Given the description of an element on the screen output the (x, y) to click on. 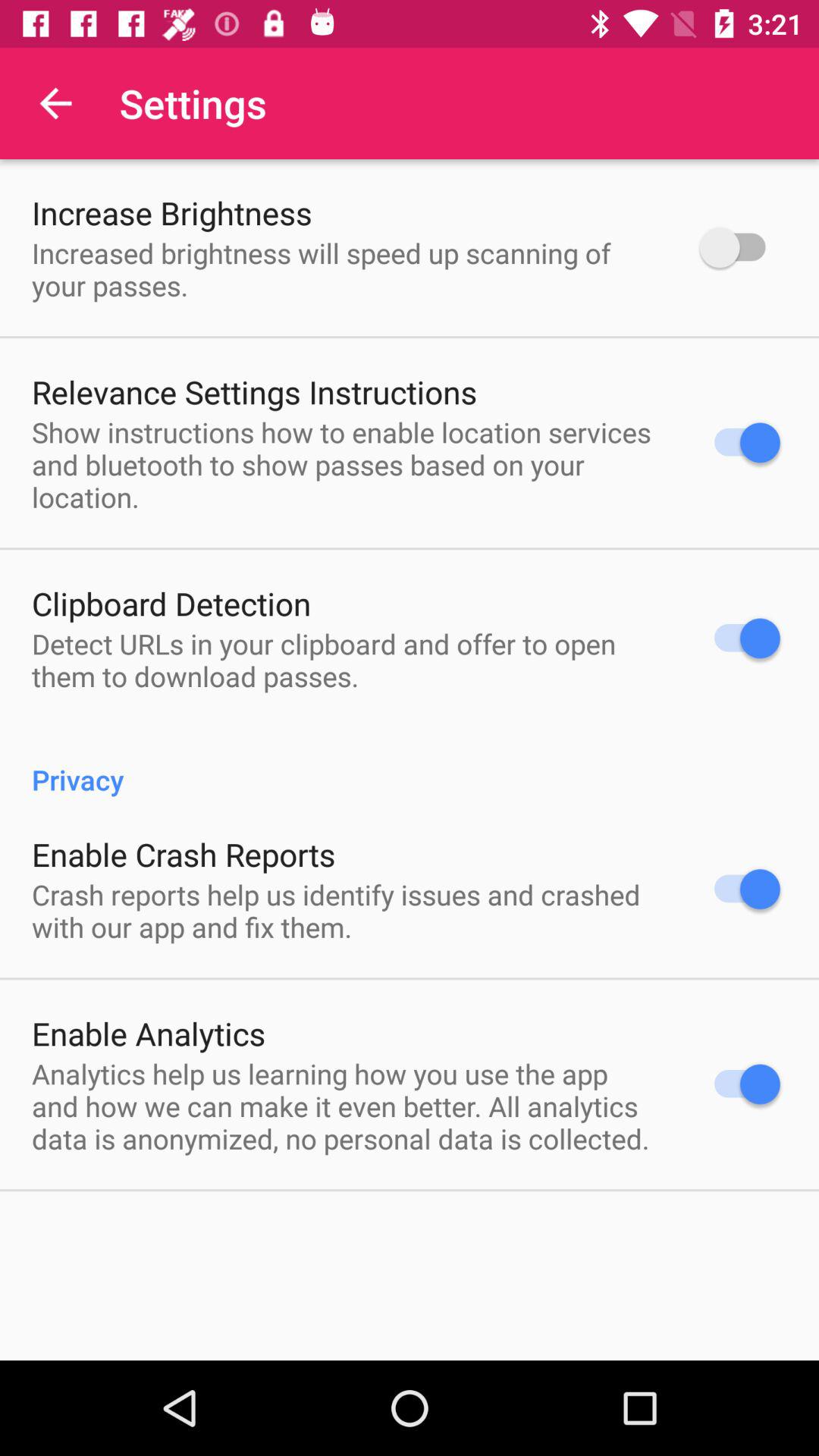
turn on the item above the privacy item (345, 660)
